Given the description of an element on the screen output the (x, y) to click on. 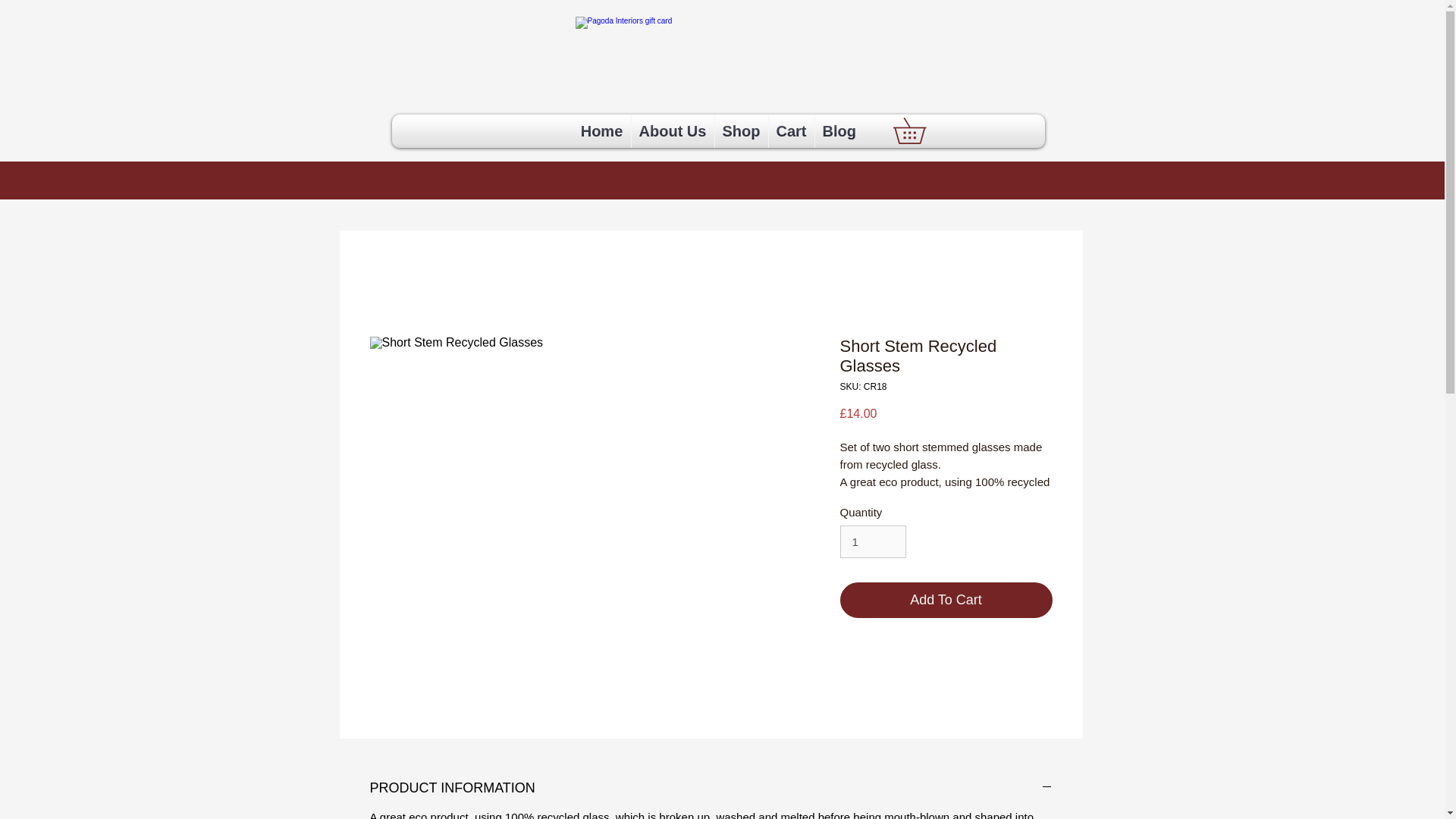
1 (872, 541)
Cart (790, 131)
PRODUCT INFORMATION (710, 787)
Home (601, 131)
Add To Cart (946, 600)
About Us (671, 131)
Shop (740, 131)
Blog (838, 131)
